Given the description of an element on the screen output the (x, y) to click on. 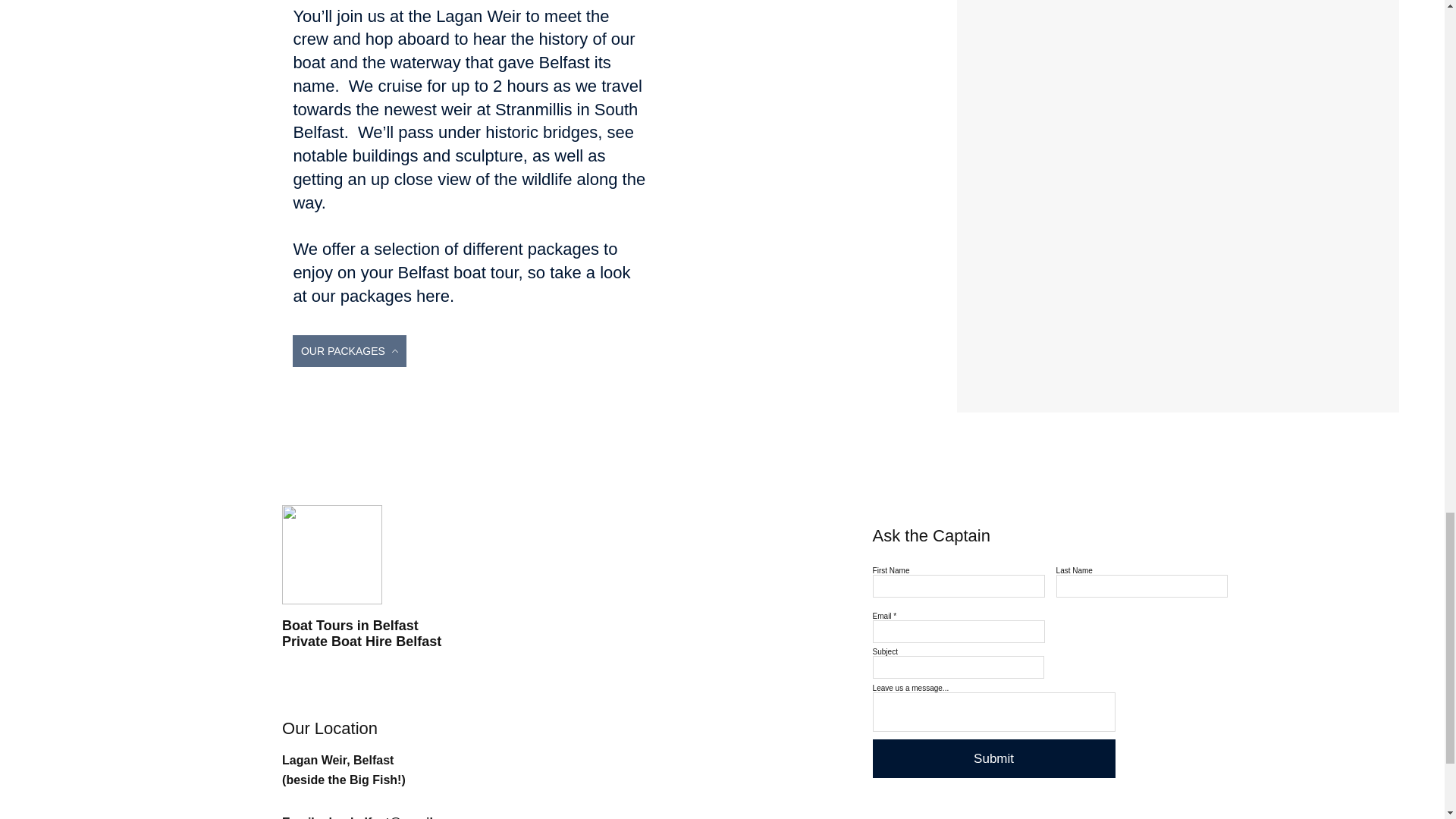
Submit (993, 758)
Boat Tours in Belfast (350, 625)
OUR PACKAGES (349, 350)
